Given the description of an element on the screen output the (x, y) to click on. 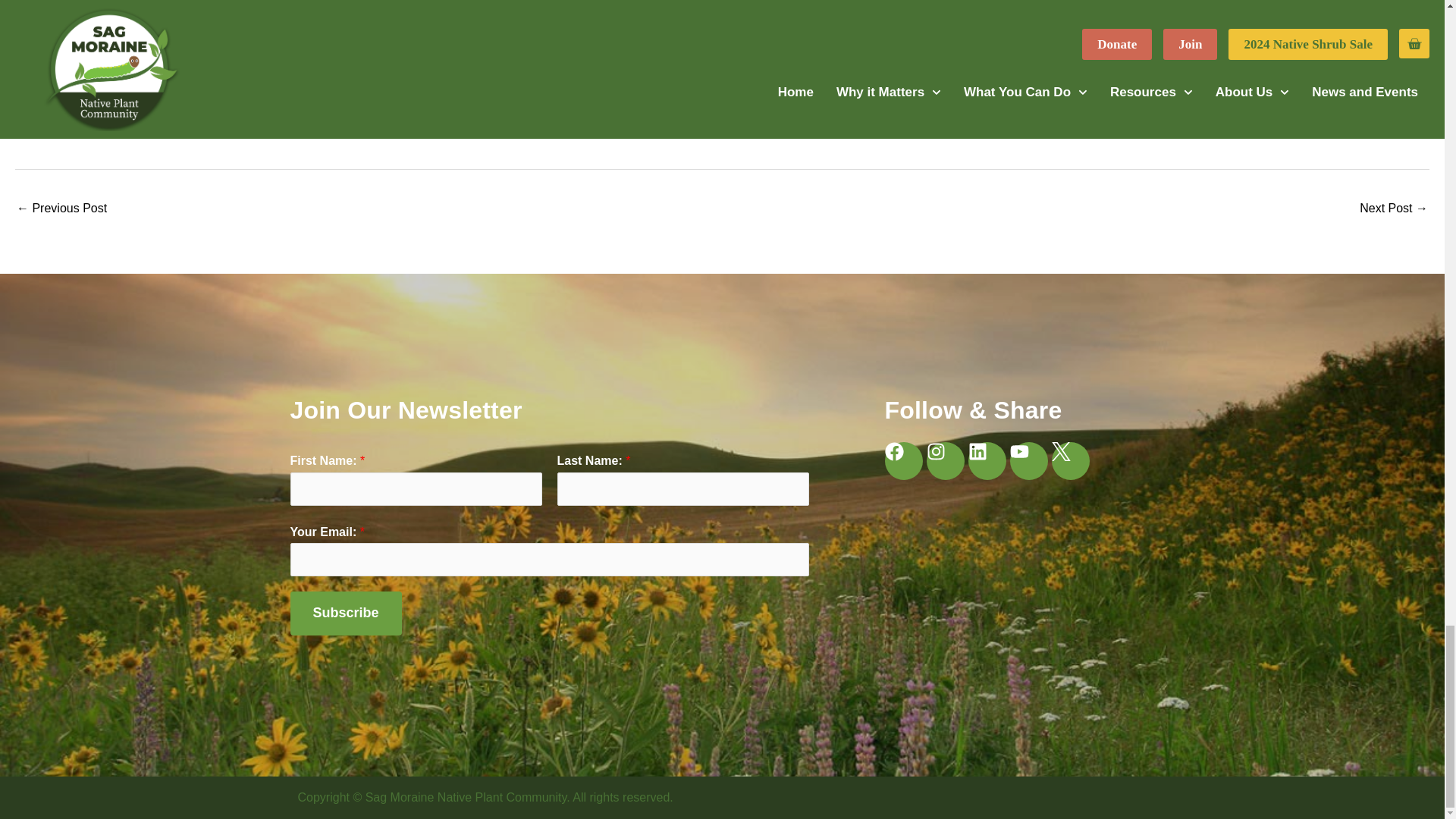
Ambassador Training (61, 209)
Oaklawn Resident (1393, 209)
